Given the description of an element on the screen output the (x, y) to click on. 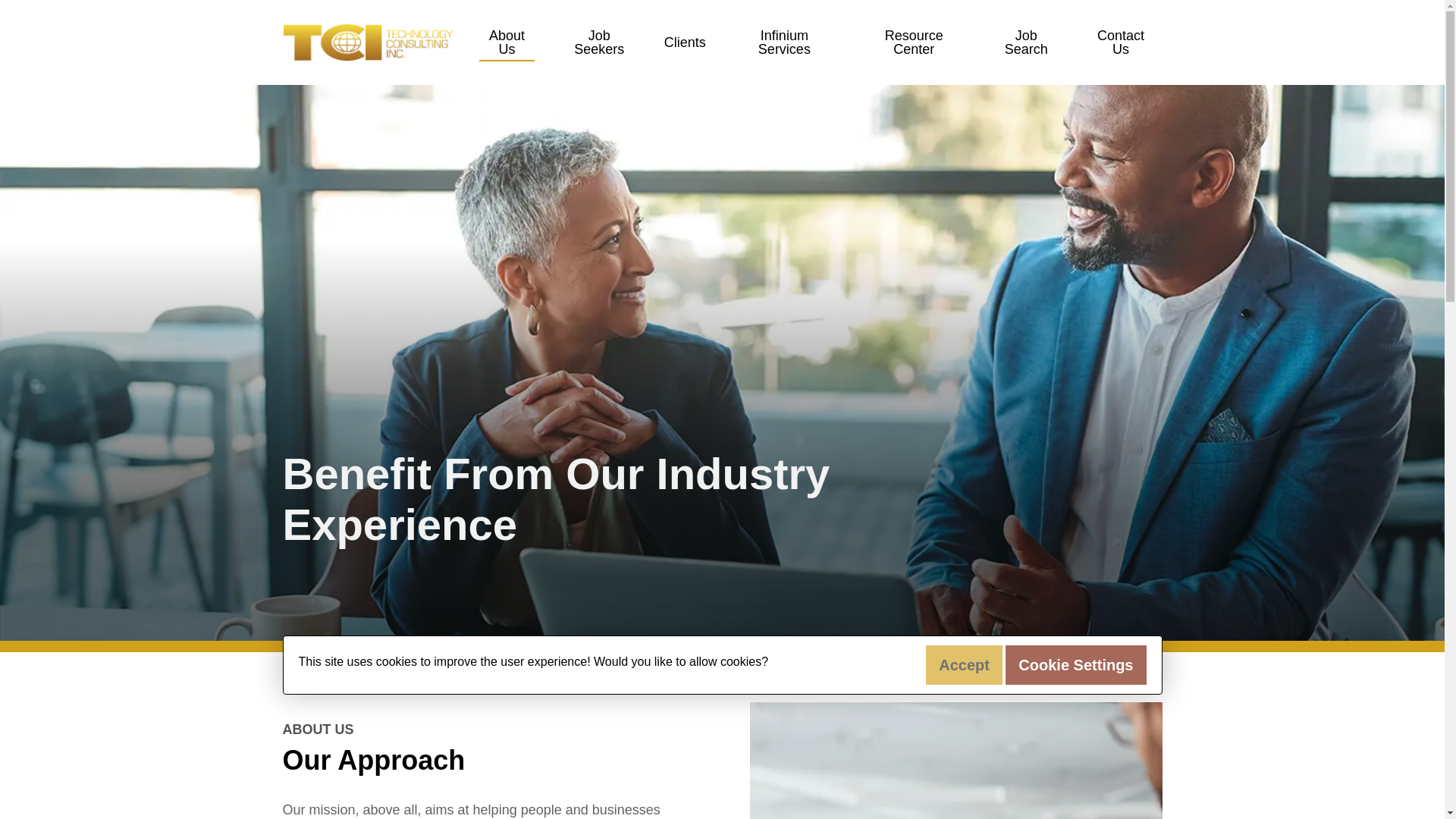
About Us (506, 42)
Resource Center (913, 42)
Job Seekers (599, 42)
Infinium Services (783, 42)
Contact Us (1120, 42)
Accept (964, 664)
Clients (684, 42)
Cookie Settings (1075, 664)
Job Search (1026, 42)
